Given the description of an element on the screen output the (x, y) to click on. 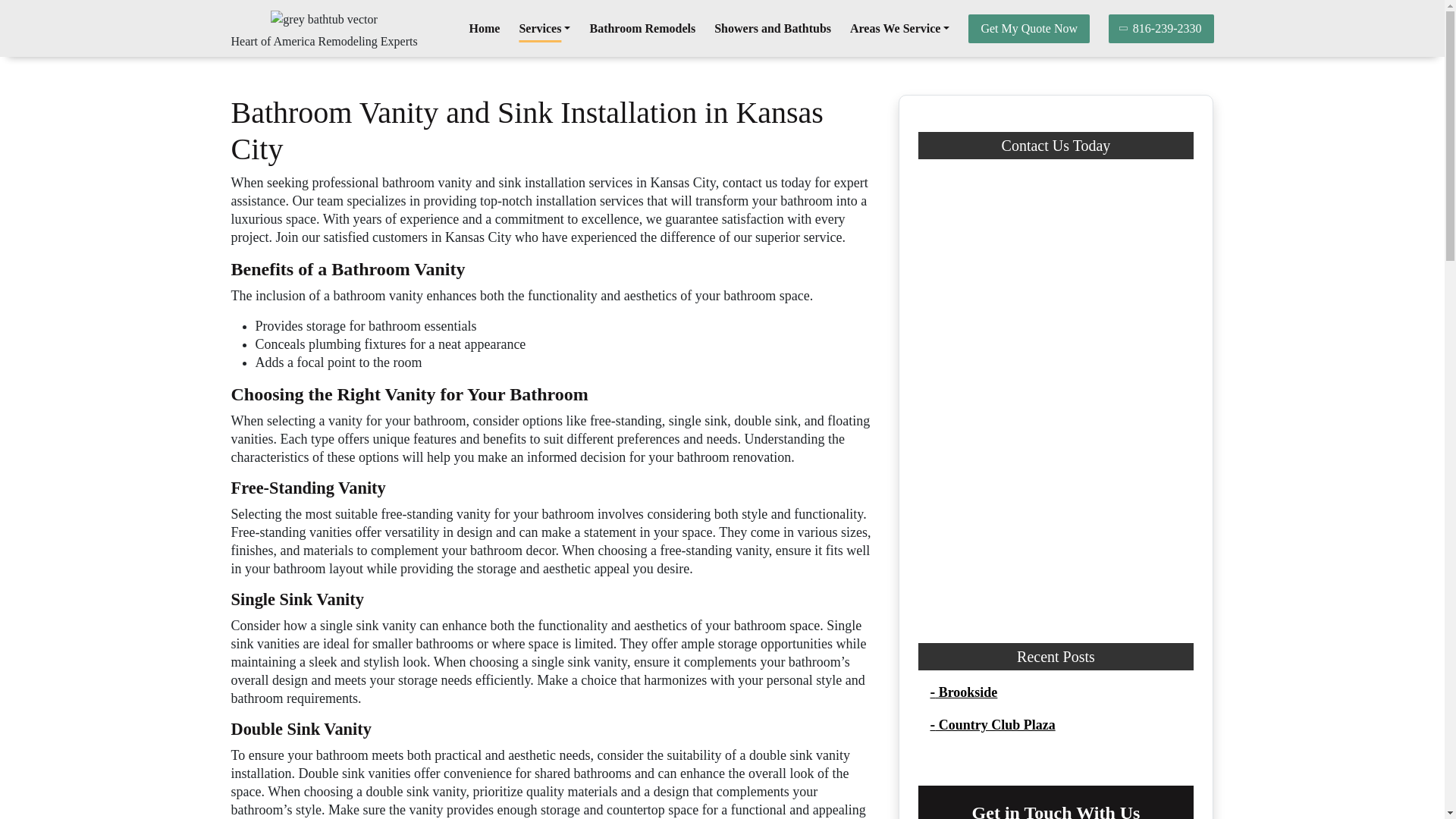
- Country Club Plaza (992, 724)
Showers and Bathtubs (772, 28)
Showers and Bathtubs (772, 28)
Services (544, 28)
- Brookside (963, 692)
816-239-2330 (1161, 28)
Bathroom Remodels (642, 28)
Get My Quote Now (1028, 28)
Bathroom Remodels (642, 28)
Home (484, 28)
Home (484, 28)
Heart of America Remodeling Experts (323, 41)
Services (544, 28)
Areas We Service (899, 28)
